Given the description of an element on the screen output the (x, y) to click on. 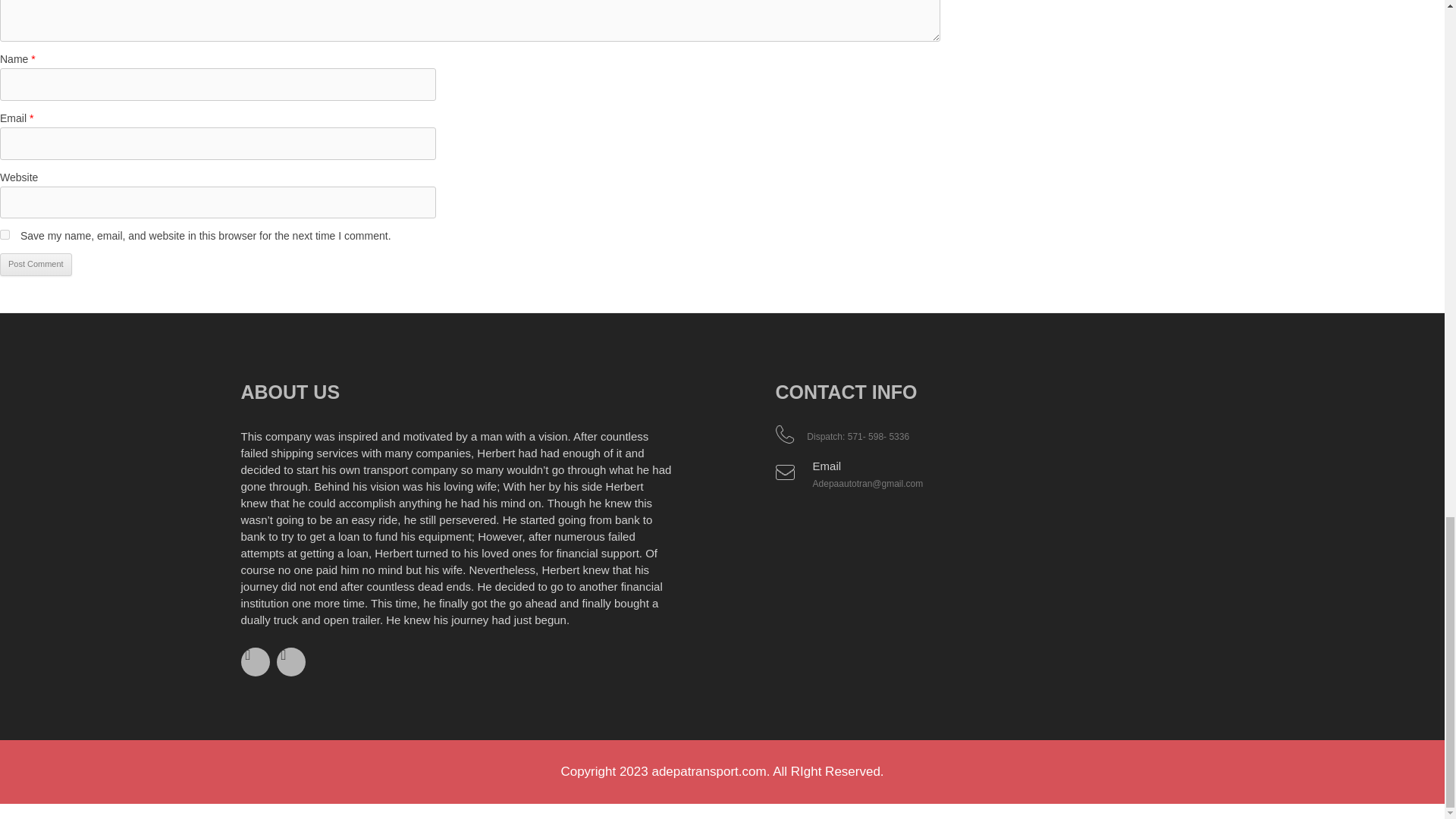
Email (826, 465)
Post Comment (35, 264)
Post Comment (35, 264)
yes (5, 234)
